Given the description of an element on the screen output the (x, y) to click on. 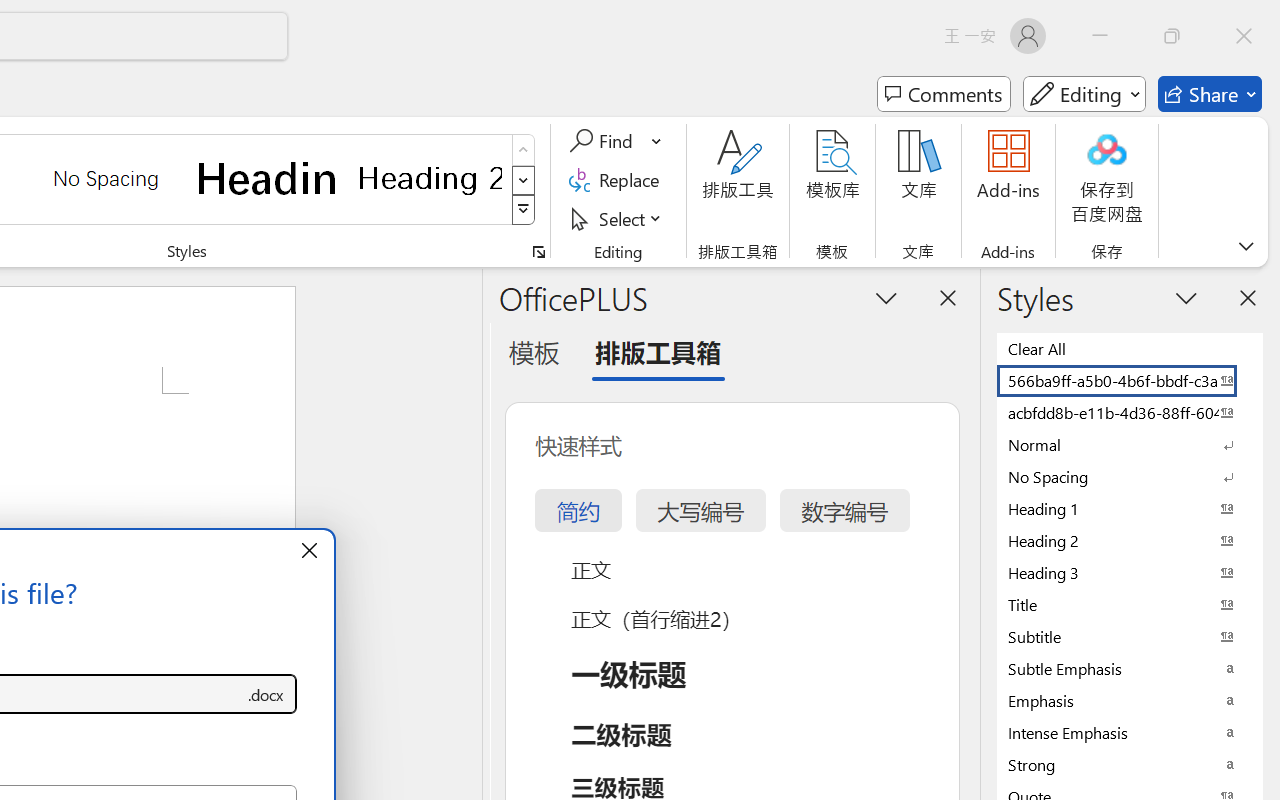
Strong (1130, 764)
Replace... (617, 179)
Select (618, 218)
